Given the description of an element on the screen output the (x, y) to click on. 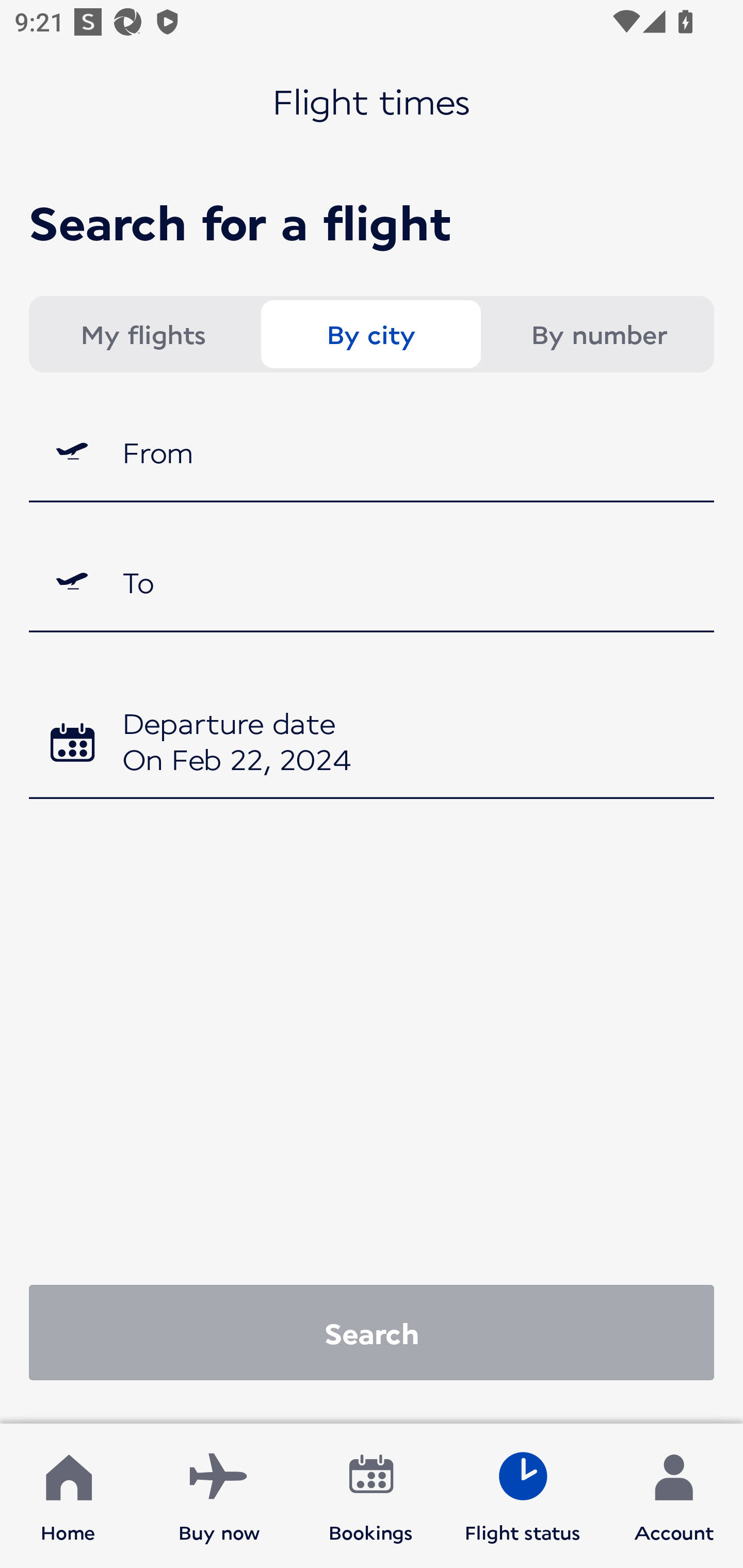
My flights (142, 334)
By city (370, 334)
By number (598, 334)
From (371, 451)
To (371, 581)
On Feb 22, 2024 Departure date (371, 744)
Search (371, 1331)
Home (68, 1495)
Buy now (219, 1495)
Bookings (370, 1495)
Account (674, 1495)
